Given the description of an element on the screen output the (x, y) to click on. 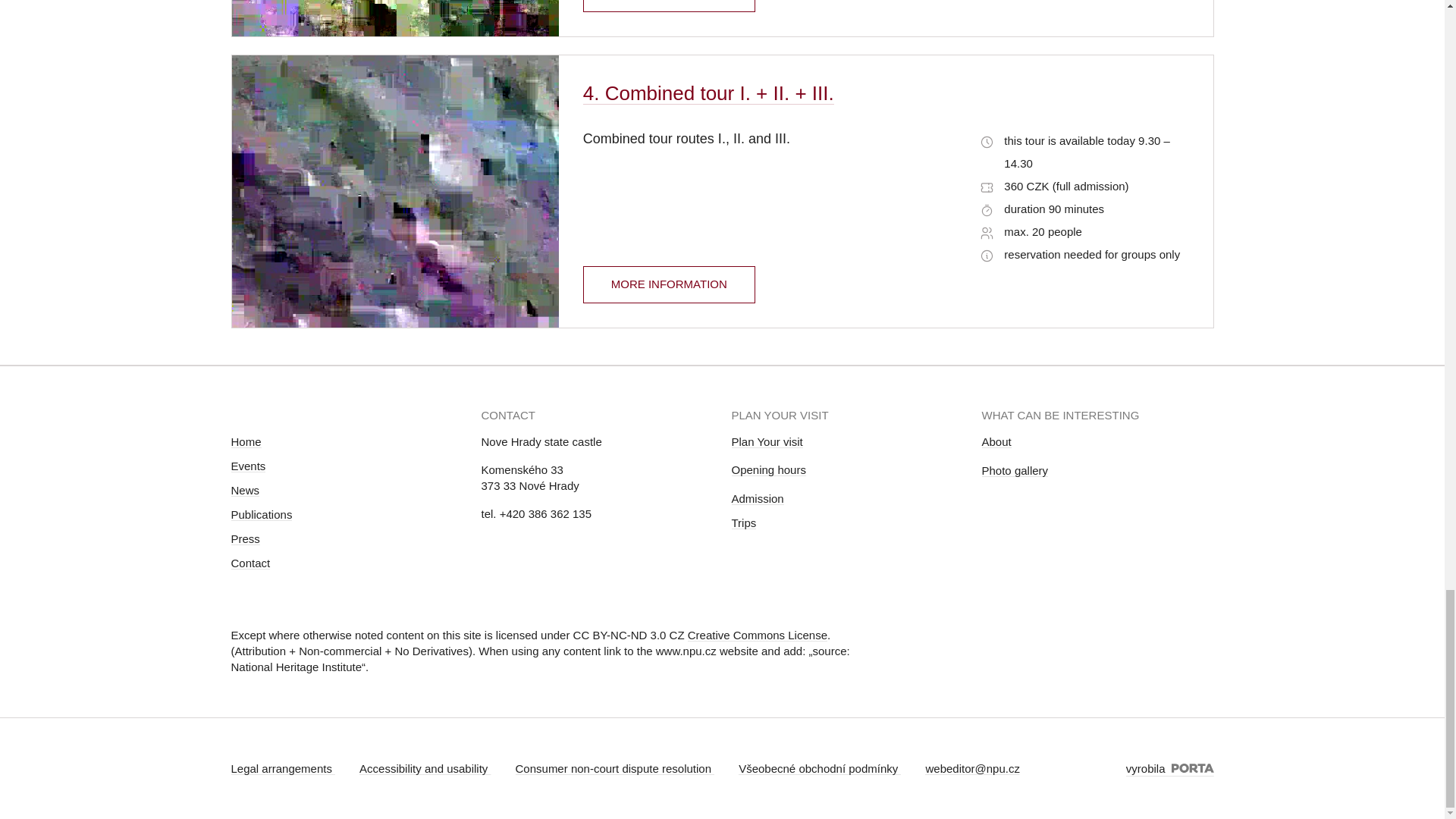
Consumer non-court dispute resolution (614, 768)
Accessibility and usability  (424, 768)
Legal arrangements (282, 768)
